Given the description of an element on the screen output the (x, y) to click on. 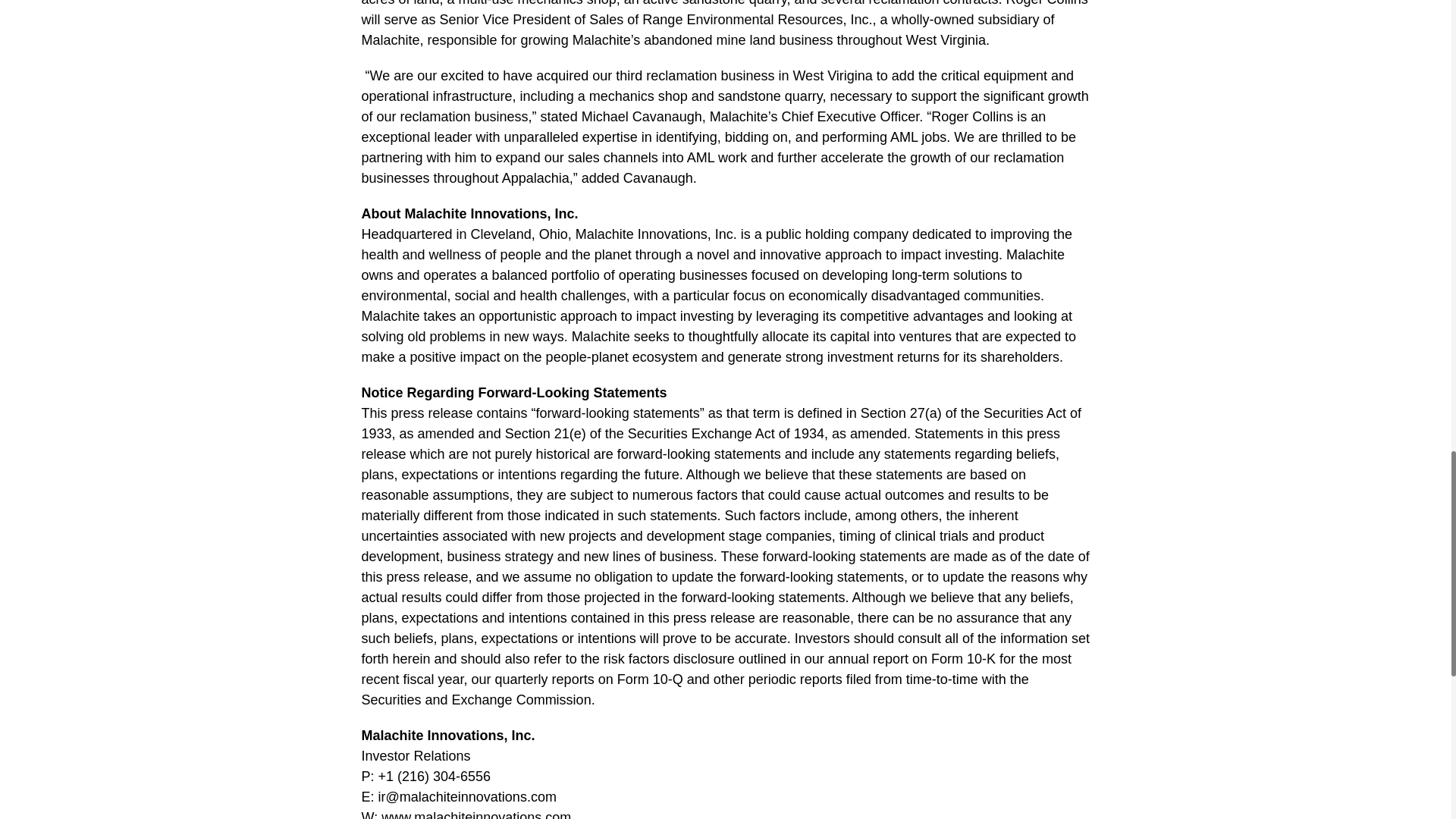
www. (397, 813)
malachiteinnovations.com (491, 813)
malachiteinnovations.com (477, 797)
